Given the description of an element on the screen output the (x, y) to click on. 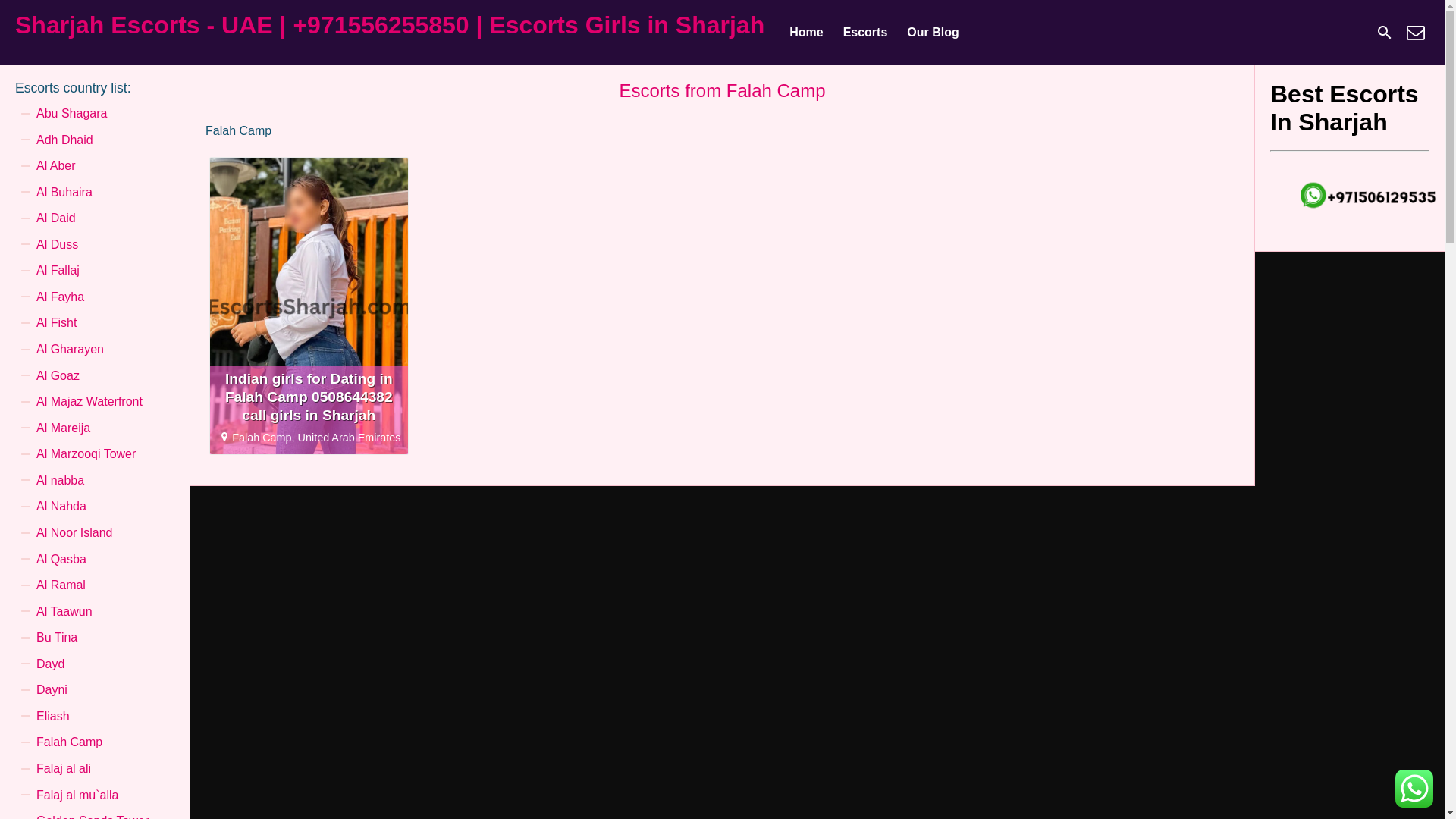
Contact Us (1415, 31)
Al Goaz (58, 376)
Al Mareija (63, 428)
Escorts (865, 33)
Home (805, 33)
Al Taawun (64, 611)
Al Qasba (60, 559)
Falaj al ali (63, 768)
Eliash (52, 716)
Al Majaz Waterfront (89, 401)
Al Ramal (60, 585)
Dayd (50, 664)
Dayni (51, 689)
Al Duss (57, 244)
